Given the description of an element on the screen output the (x, y) to click on. 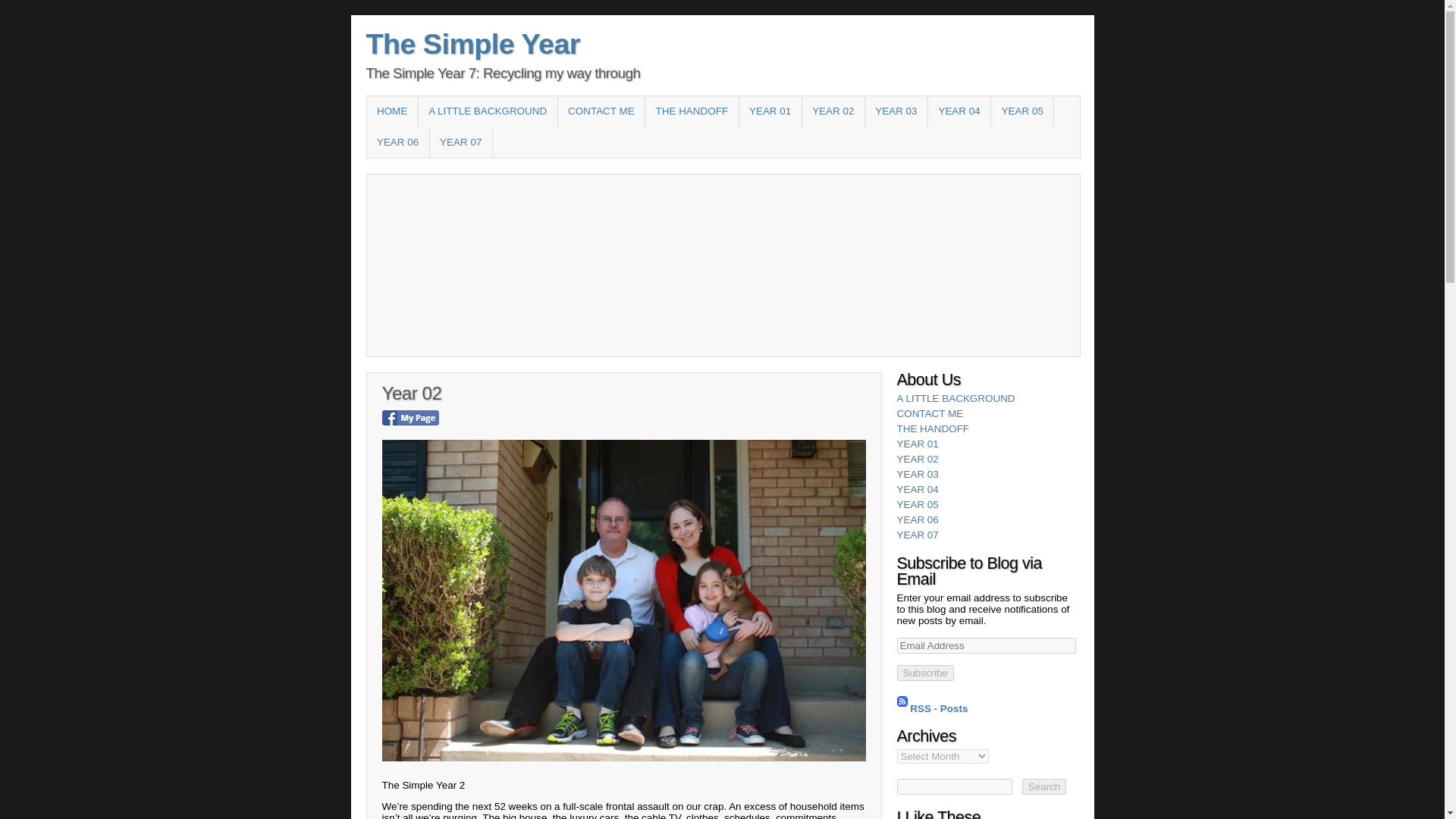
Subscribe to Posts (901, 707)
The Simple Year (472, 43)
THE HANDOFF (932, 428)
A LITTLE BACKGROUND (955, 398)
YEAR 07 (460, 142)
YEAR 01 (770, 111)
Subscribe to Posts (939, 707)
The Simple Year (472, 43)
YEAR 04 (959, 111)
CONTACT ME (929, 413)
Search (1043, 786)
YEAR 03 (895, 111)
YEAR 06 (397, 142)
CONTACT ME (601, 111)
YEAR 05 (1021, 111)
